Given the description of an element on the screen output the (x, y) to click on. 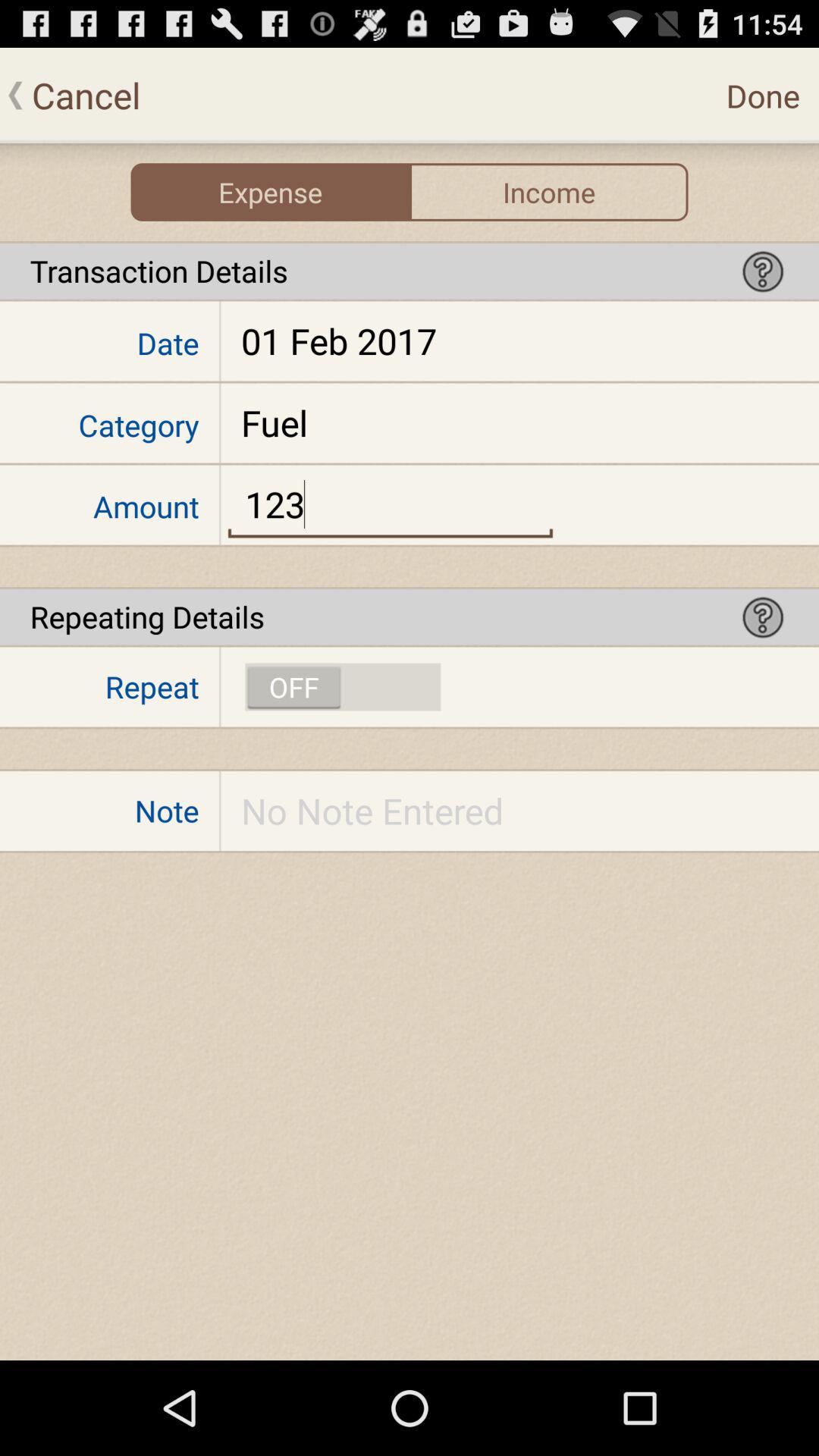
toggle repeat option (342, 686)
